Given the description of an element on the screen output the (x, y) to click on. 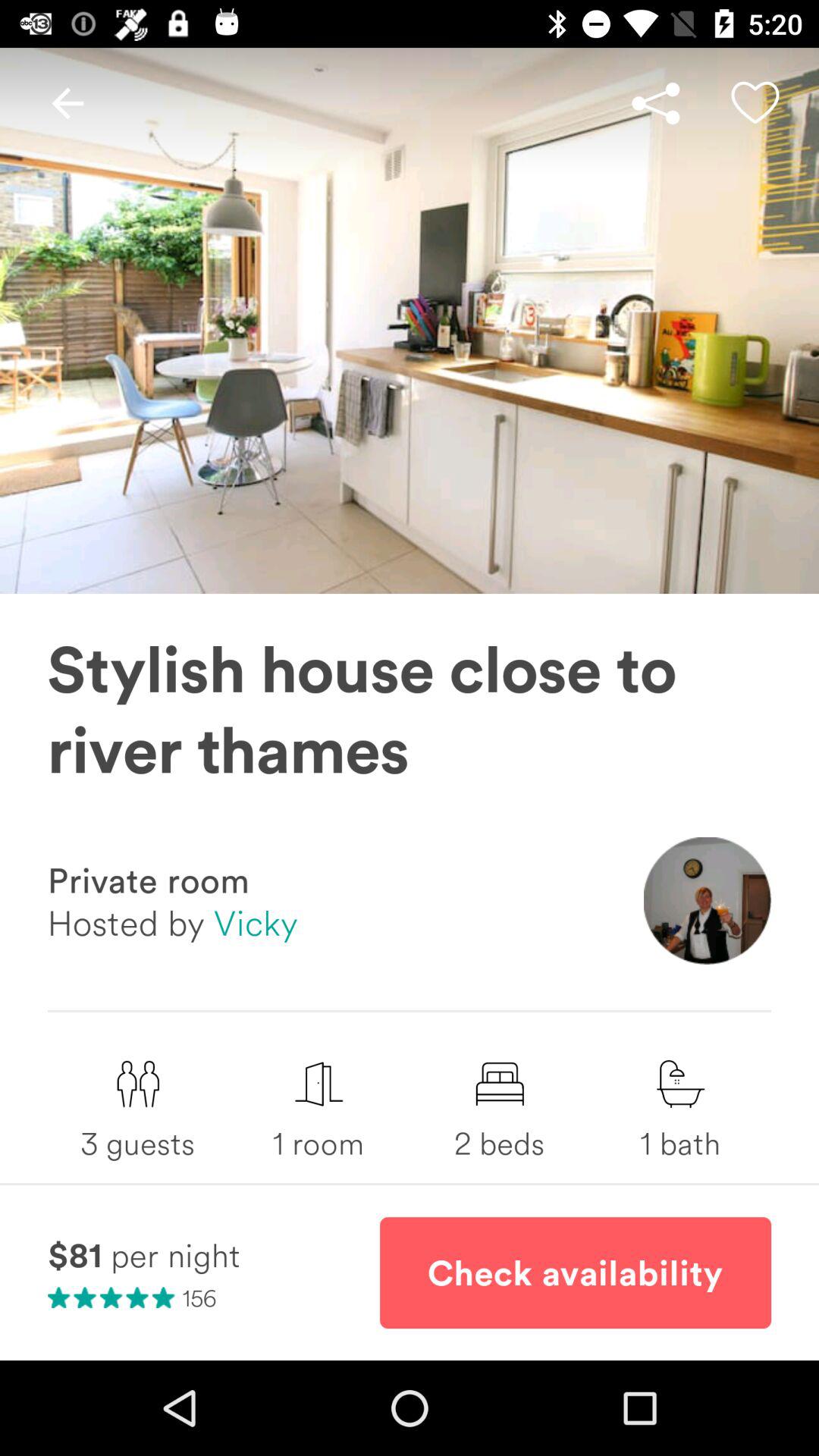
select icon above the stylish house close item (755, 103)
